Given the description of an element on the screen output the (x, y) to click on. 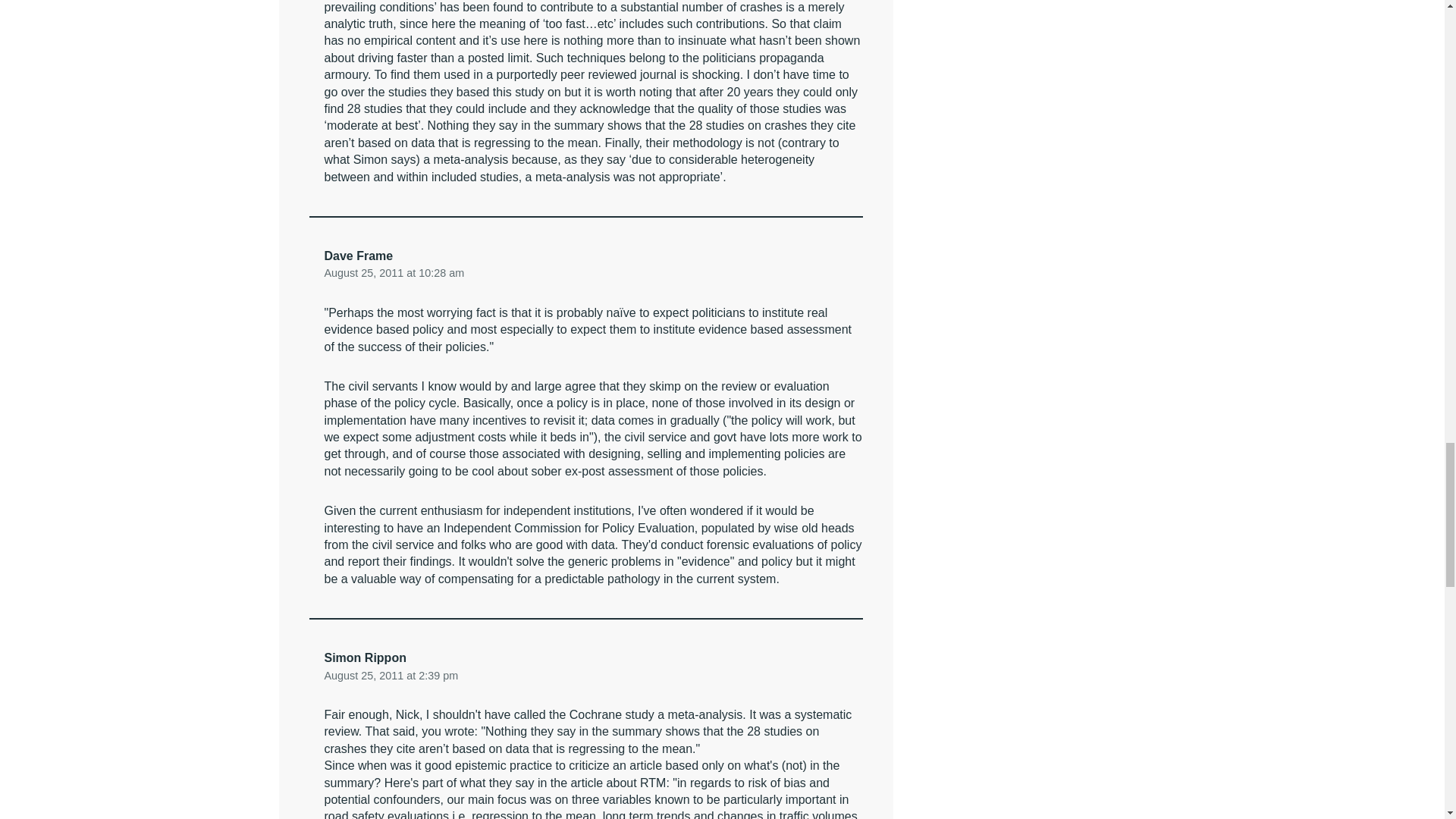
August 25, 2011 at 10:28 am (394, 272)
Simon Rippon (365, 657)
August 25, 2011 at 2:39 pm (391, 675)
